Given the description of an element on the screen output the (x, y) to click on. 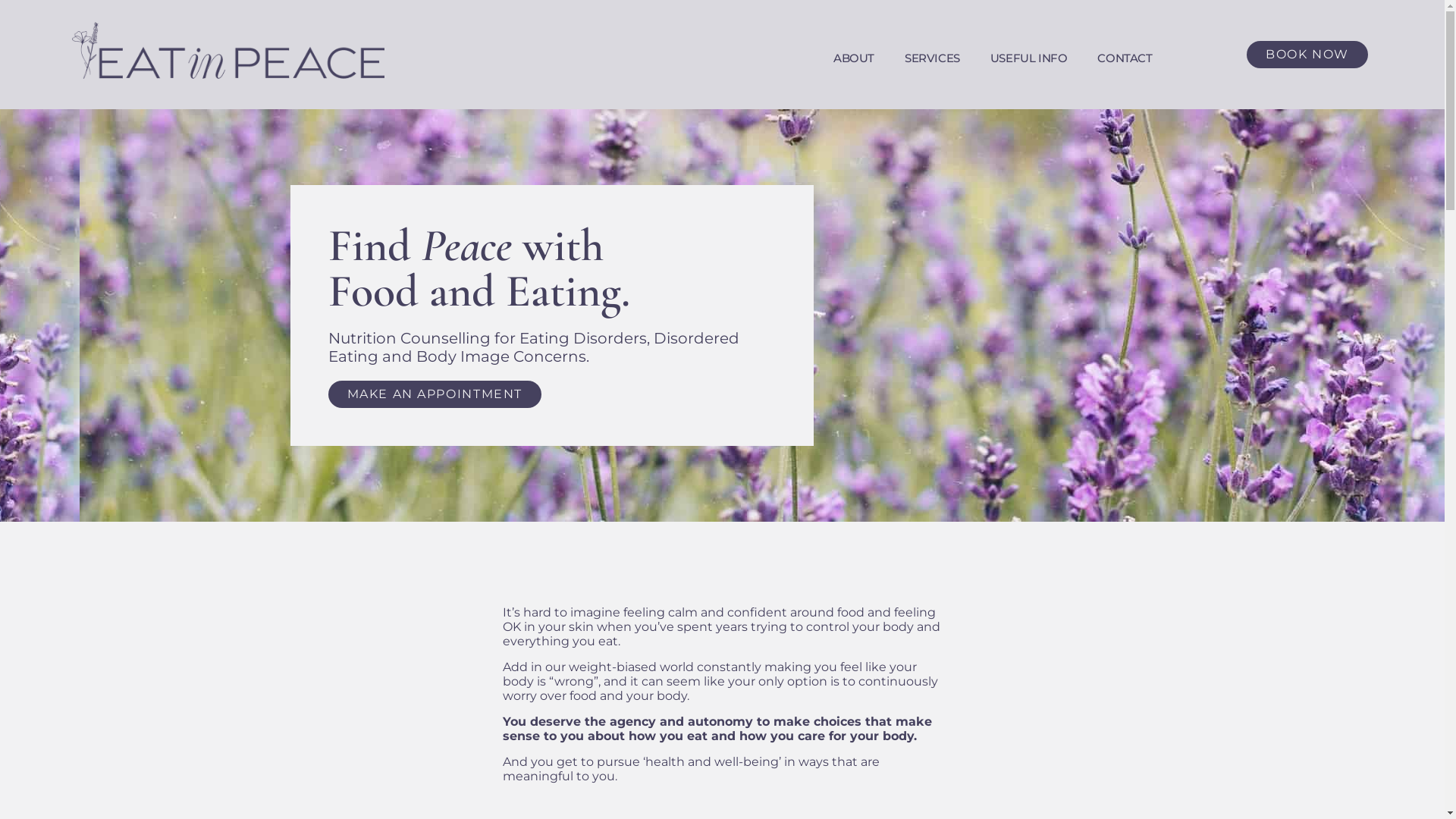
ABOUT Element type: text (853, 58)
USEFUL INFO Element type: text (1028, 58)
BOOK NOW Element type: text (1307, 54)
CONTACT Element type: text (1124, 58)
SERVICES Element type: text (932, 58)
MAKE AN APPOINTMENT Element type: text (433, 393)
